Given the description of an element on the screen output the (x, y) to click on. 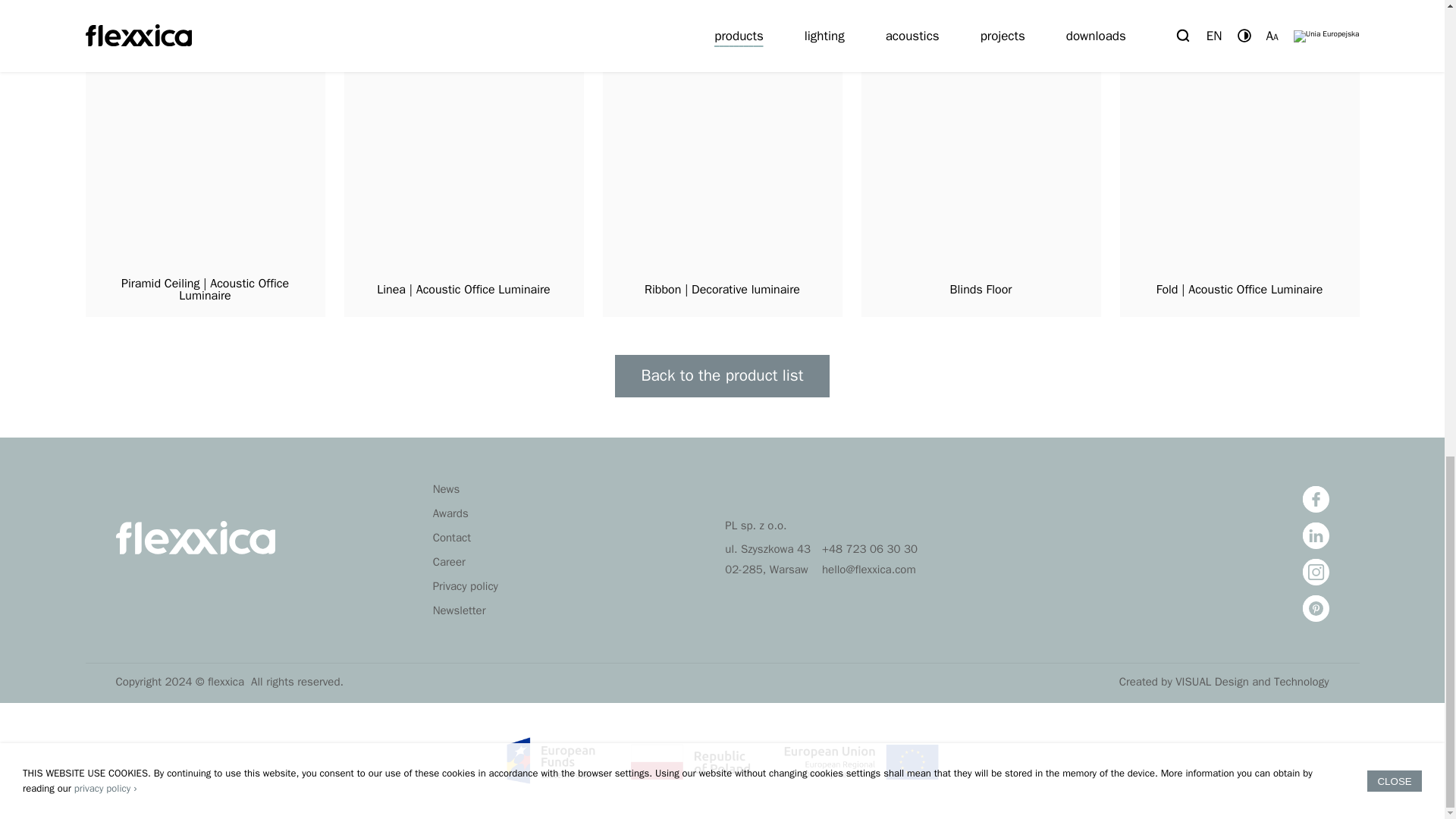
Pinterest (1316, 608)
Linkedin (1316, 535)
Facebook (1316, 499)
Back to the product list (721, 375)
News (446, 489)
Instagram (1316, 571)
Blinds Floor (980, 187)
Awards (450, 513)
